Given the description of an element on the screen output the (x, y) to click on. 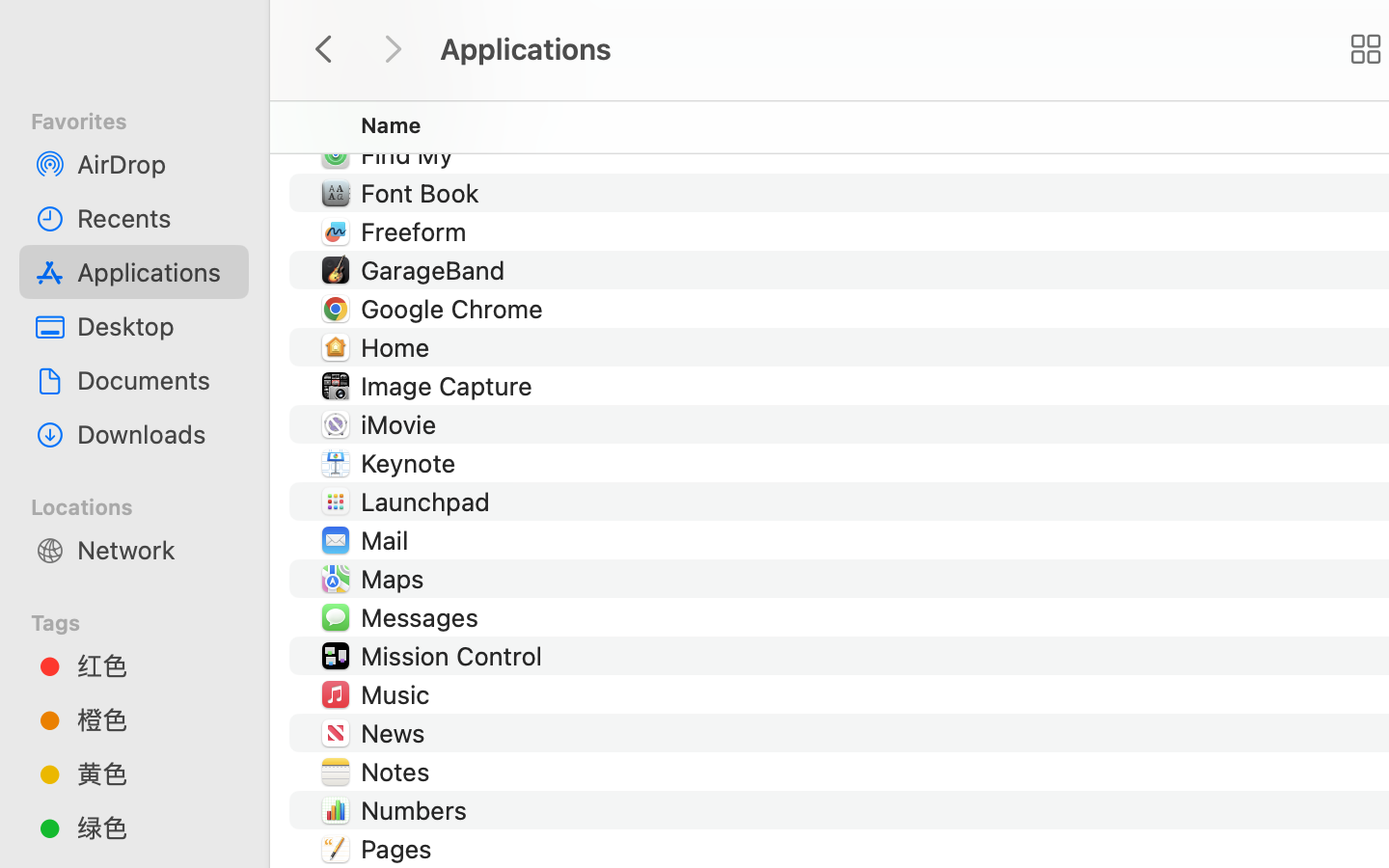
Freeform Element type: AXTextField (417, 231)
News Element type: AXTextField (396, 732)
Favorites Element type: AXStaticText (145, 118)
Mail Element type: AXTextField (388, 539)
Tags Element type: AXStaticText (145, 619)
